Given the description of an element on the screen output the (x, y) to click on. 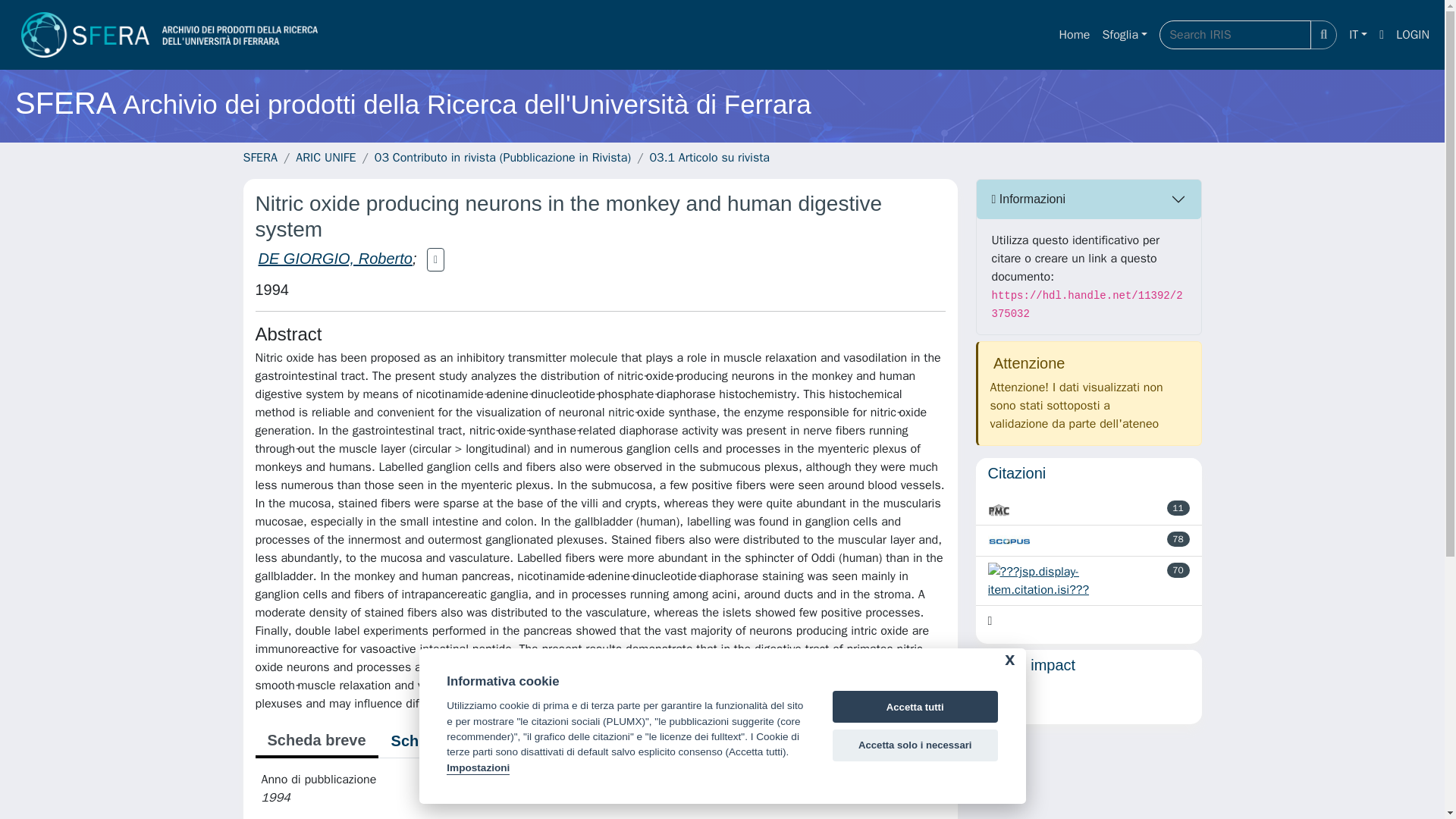
Scheda breve (315, 741)
DE GIORGIO, Roberto (334, 258)
IT (1357, 34)
aggiornato in data 21-05-2024 13:01 (1178, 507)
SFERA (259, 157)
Home (1074, 34)
Scheda completa (453, 740)
LOGIN (1412, 34)
 Informazioni (1088, 199)
ARIC UNIFE (325, 157)
03.1 Articolo su rivista (709, 157)
Sfoglia (1124, 34)
